Given the description of an element on the screen output the (x, y) to click on. 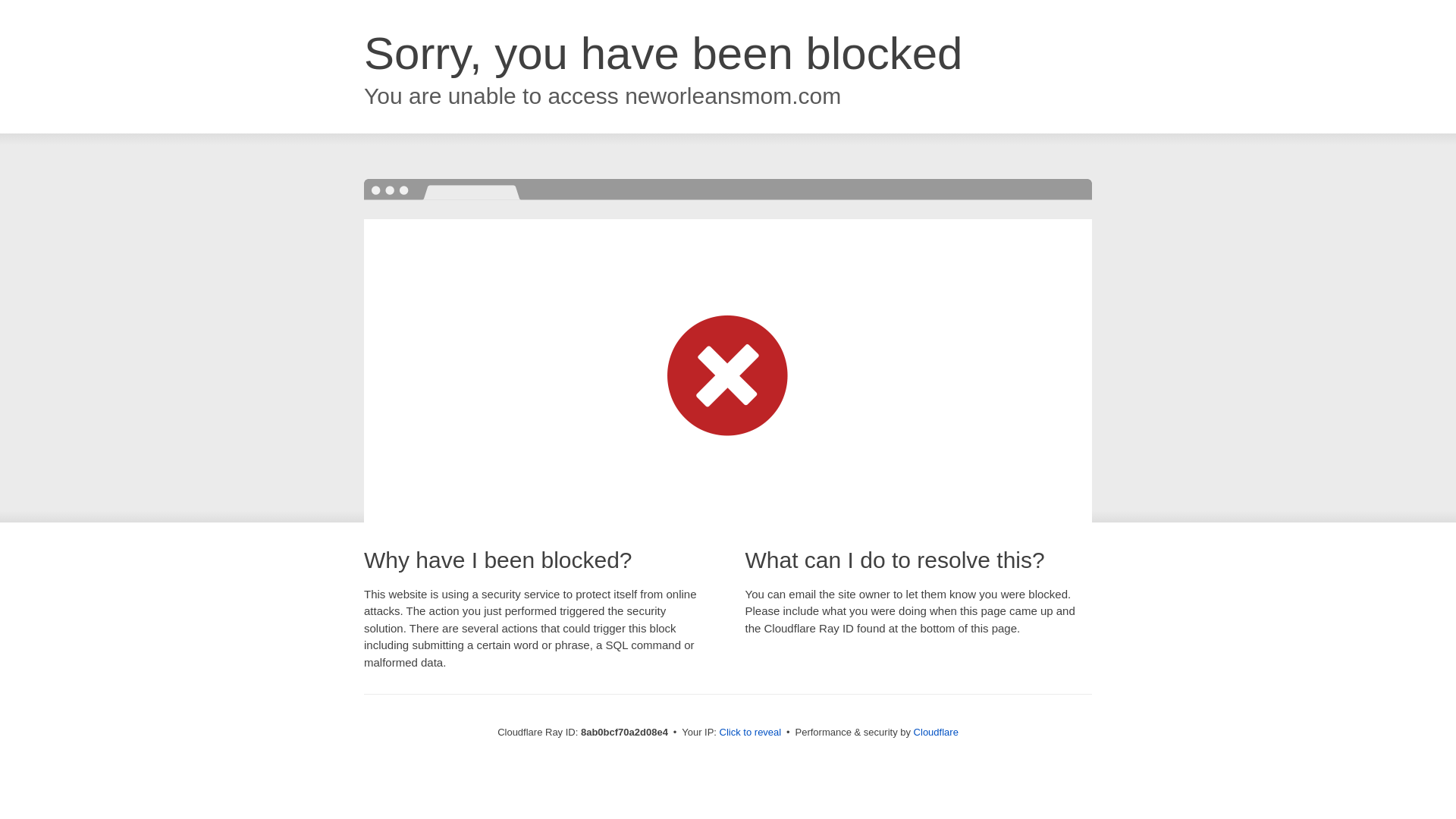
Cloudflare (936, 731)
Click to reveal (750, 732)
